Given the description of an element on the screen output the (x, y) to click on. 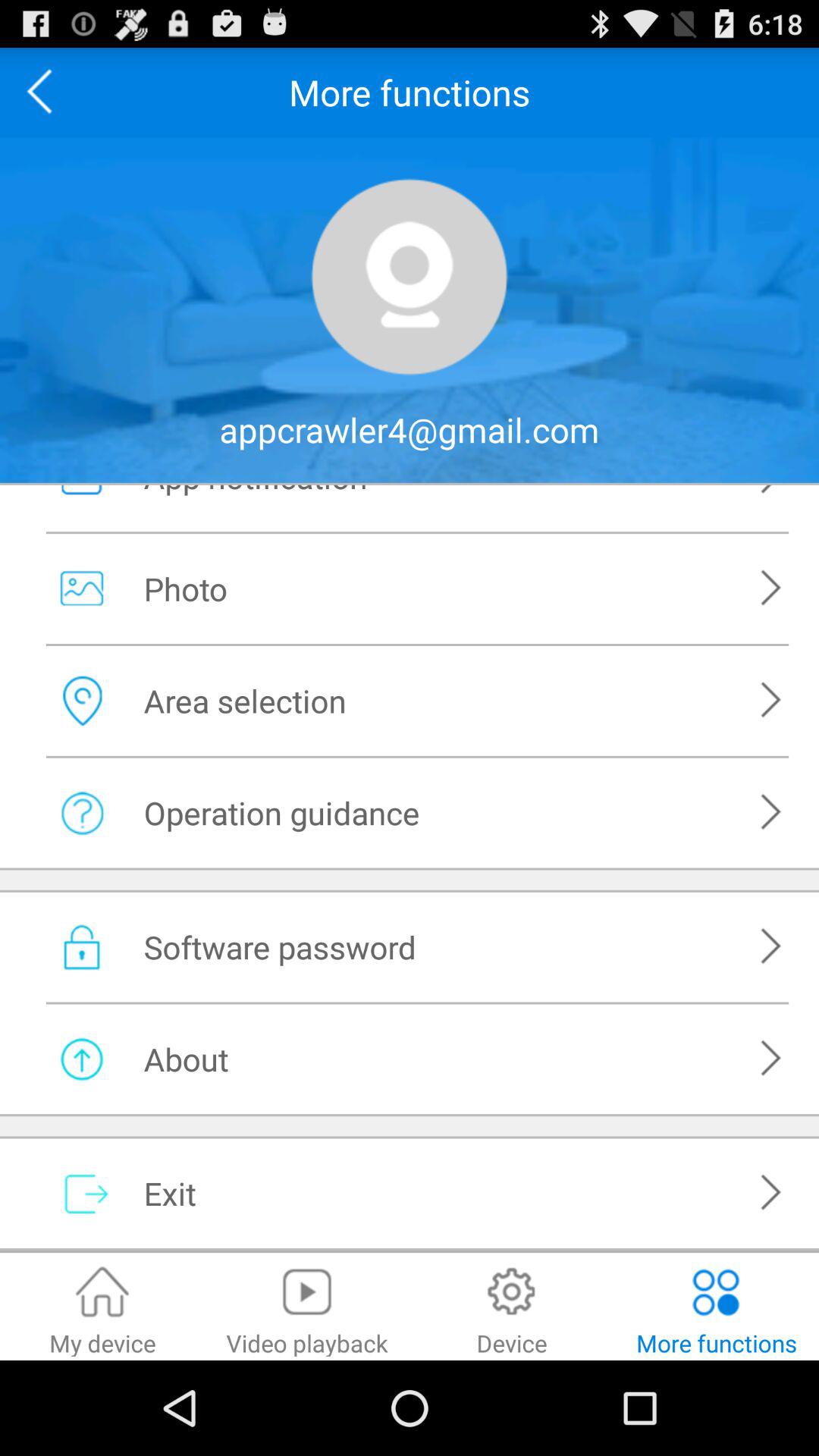
icon option (409, 276)
